Given the description of an element on the screen output the (x, y) to click on. 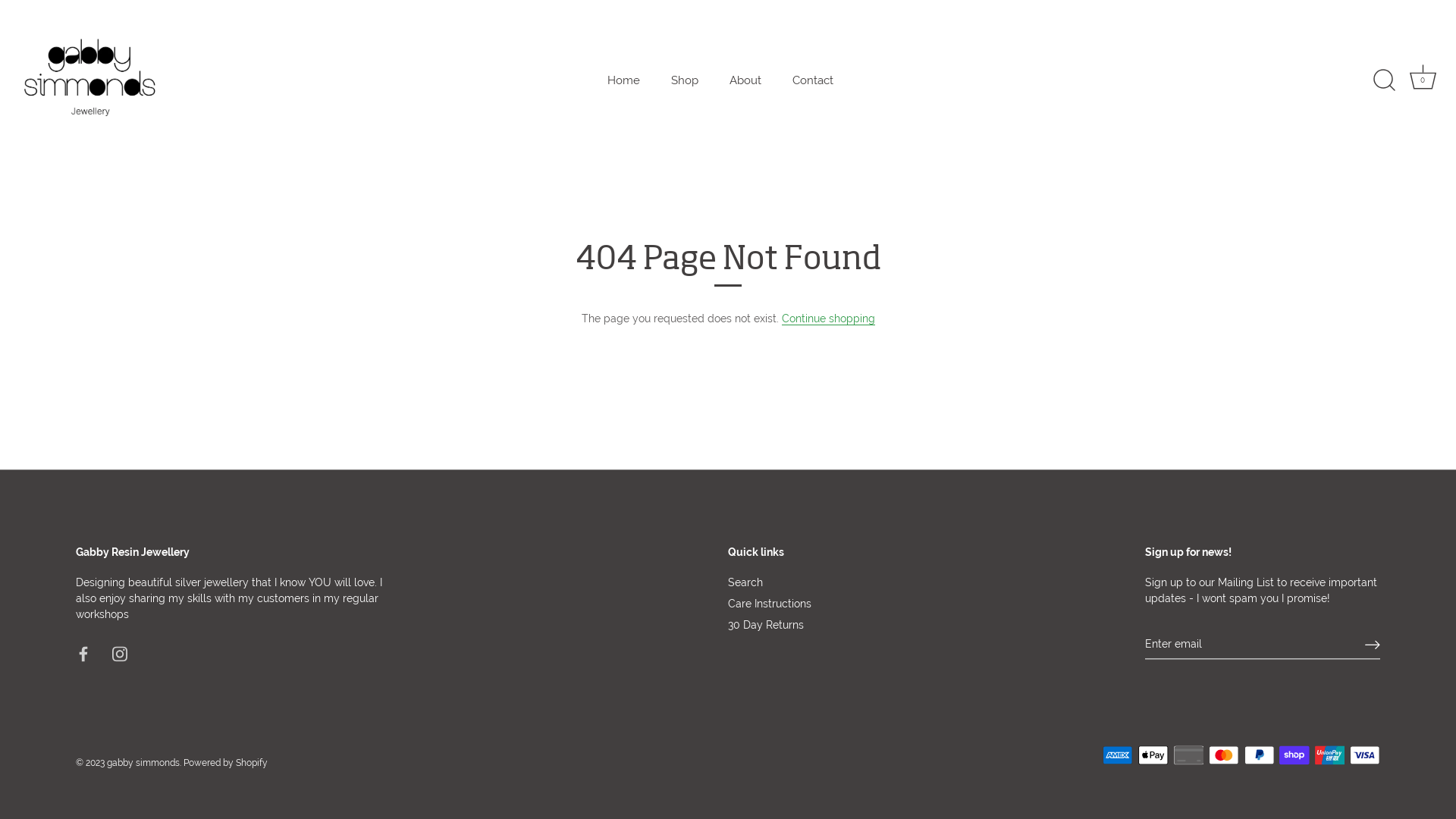
About Element type: text (745, 80)
gabby simmonds Element type: text (142, 763)
Home Element type: text (623, 80)
Search Element type: text (745, 582)
Shop Element type: text (684, 80)
Care Instructions Element type: text (769, 603)
30 Day Returns Element type: text (765, 624)
RIGHT ARROW LONG Element type: text (1372, 644)
Contact Element type: text (812, 80)
Powered by Shopify Element type: text (225, 763)
Instagram Element type: text (119, 652)
Cart
0 Element type: text (1422, 80)
Continue shopping Element type: text (827, 318)
